Given the description of an element on the screen output the (x, y) to click on. 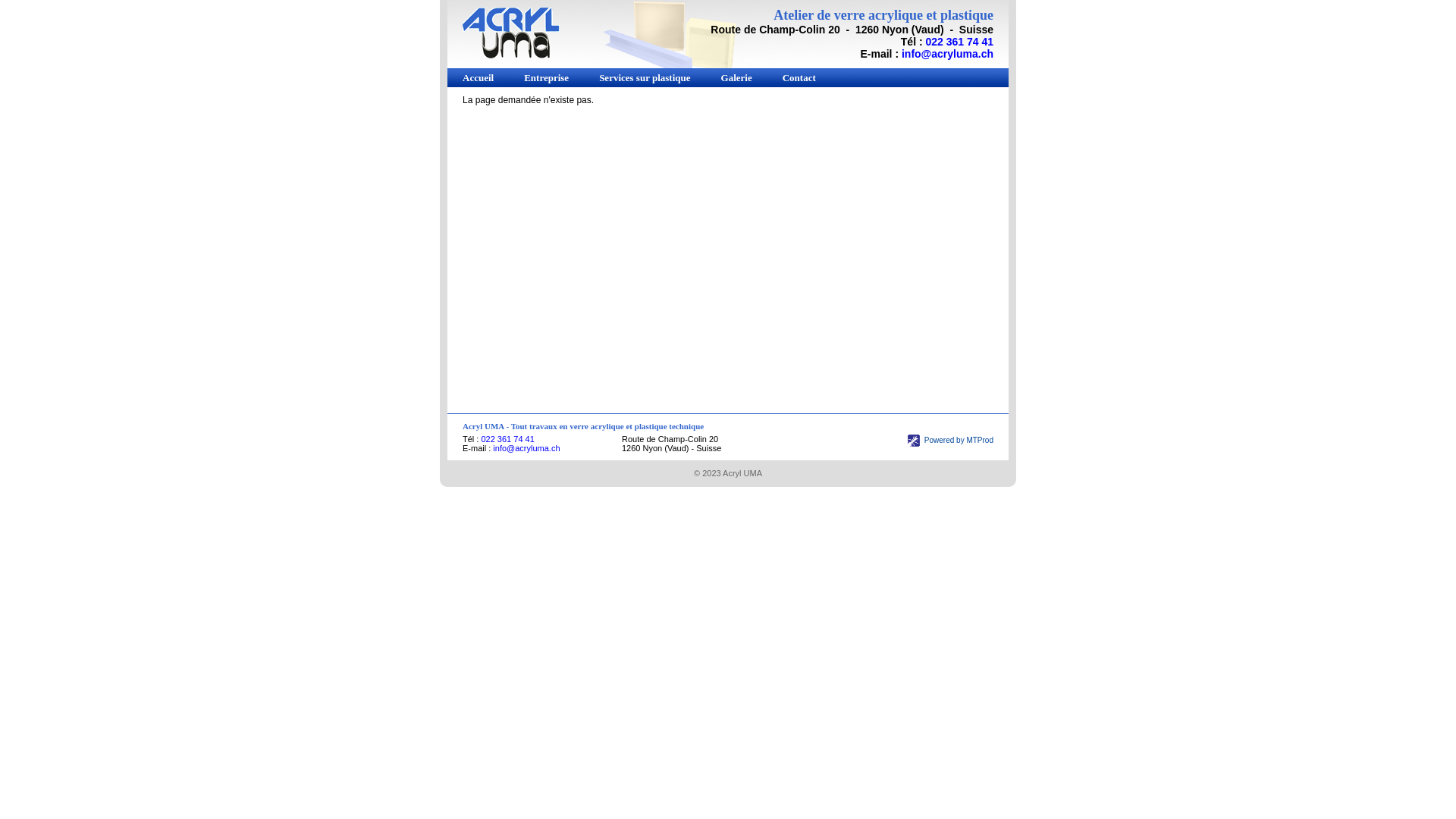
Entreprise Element type: text (545, 77)
Acryl UMA - Travaux sur plastique Element type: hover (510, 32)
Accueil Element type: text (477, 77)
Acryl UMA - Travaux sur plastique Element type: hover (510, 55)
Powered by MTProd Element type: text (950, 440)
info@acryluma.ch Element type: text (947, 53)
022 361 74 41 Element type: text (959, 41)
Contact Element type: text (799, 77)
Services sur plastique Element type: text (644, 77)
022 361 74 41 Element type: text (506, 438)
Galerie Element type: text (736, 77)
info@acryluma.ch Element type: text (525, 447)
